Given the description of an element on the screen output the (x, y) to click on. 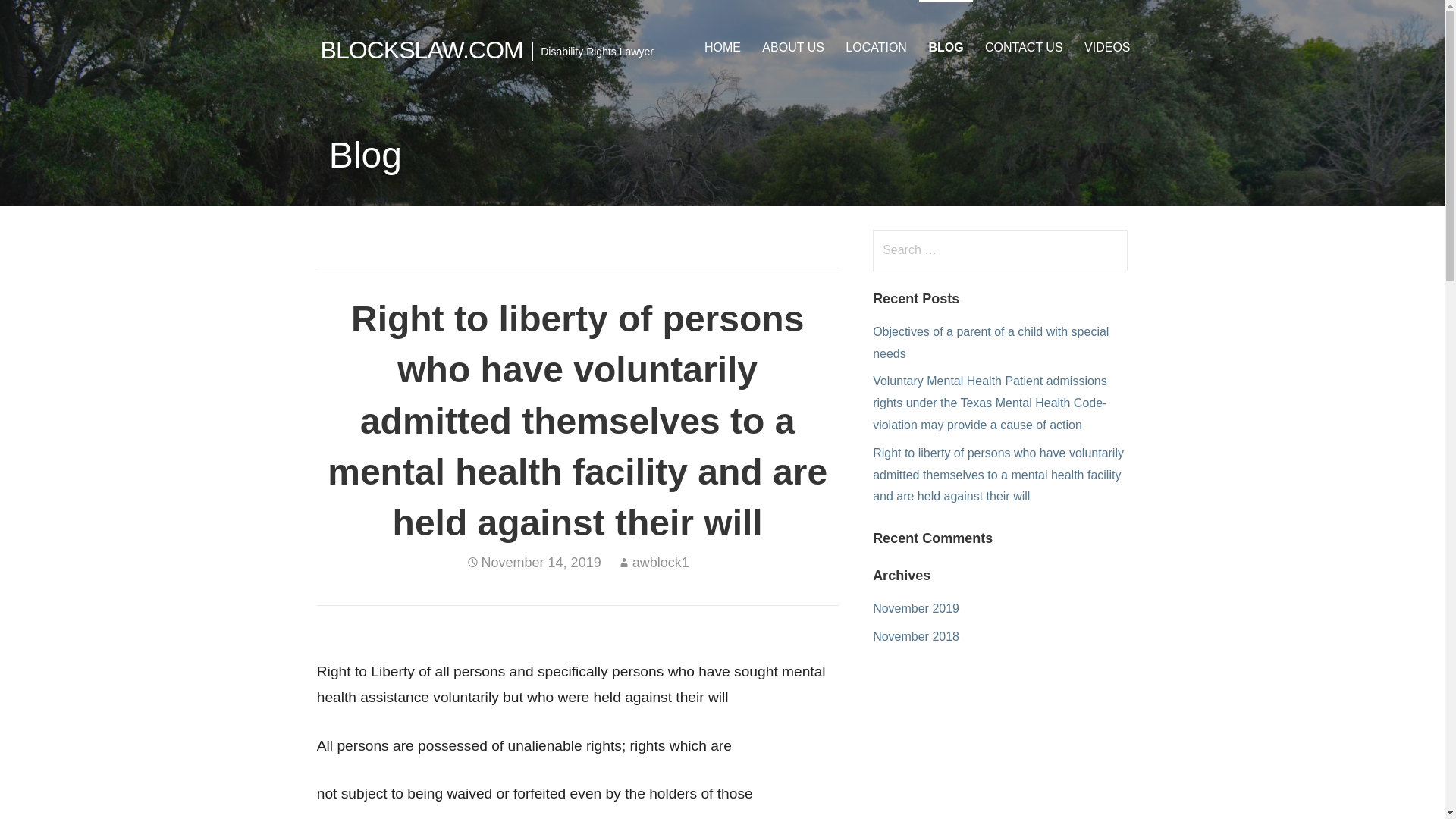
Posts by awblock1 (659, 562)
Objectives of a parent of a child with special needs (990, 342)
BLOCKSLAW.COM (421, 49)
November 2019 (915, 608)
November 2018 (915, 635)
CONTACT US (1023, 47)
awblock1 (659, 562)
Search (42, 18)
